Given the description of an element on the screen output the (x, y) to click on. 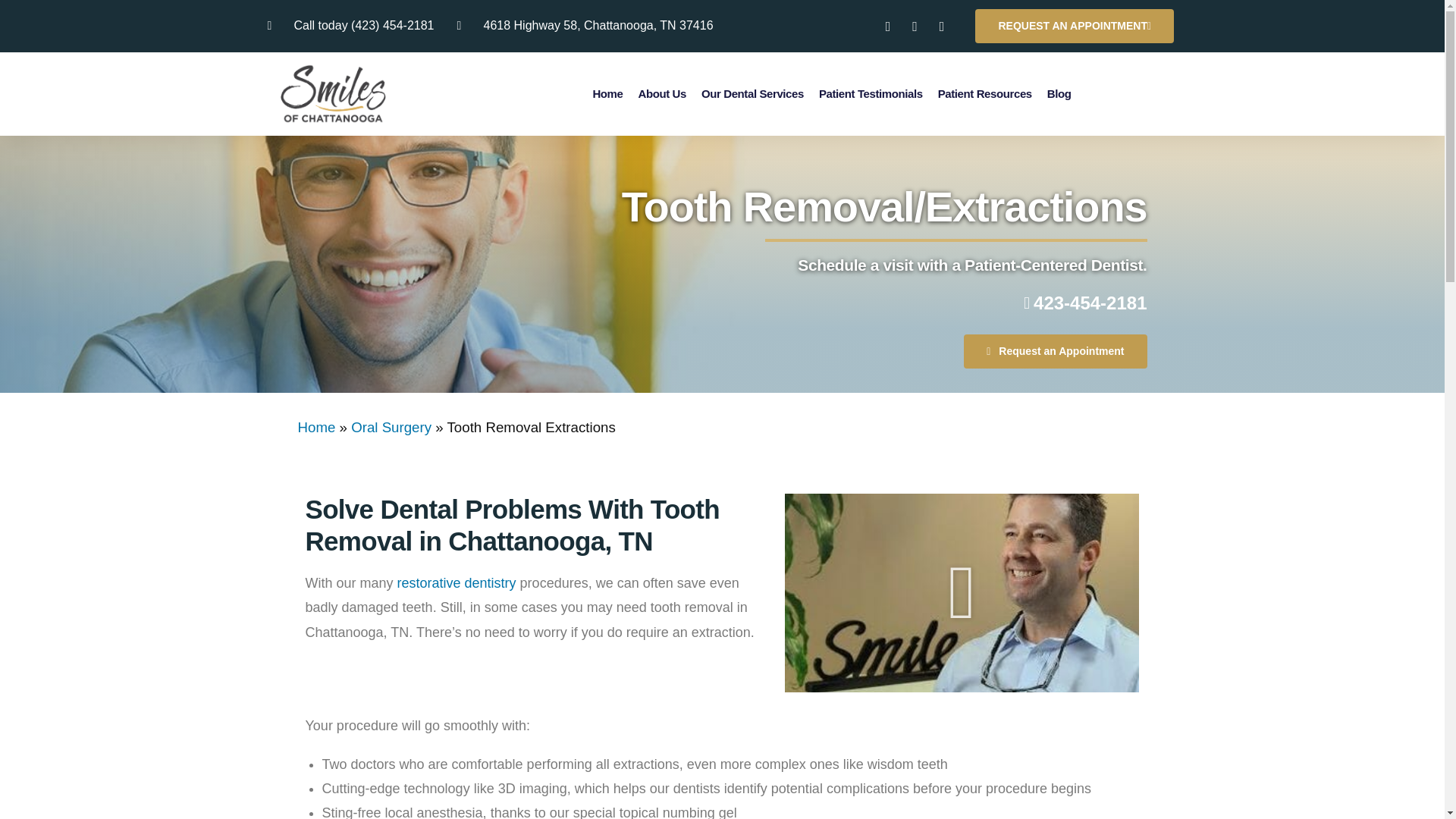
Our Dental Services (752, 93)
About Us (662, 93)
REQUEST AN APPOINTMENT (1074, 26)
4618 Highway 58, Chattanooga, TN 37416 (585, 25)
